Given the description of an element on the screen output the (x, y) to click on. 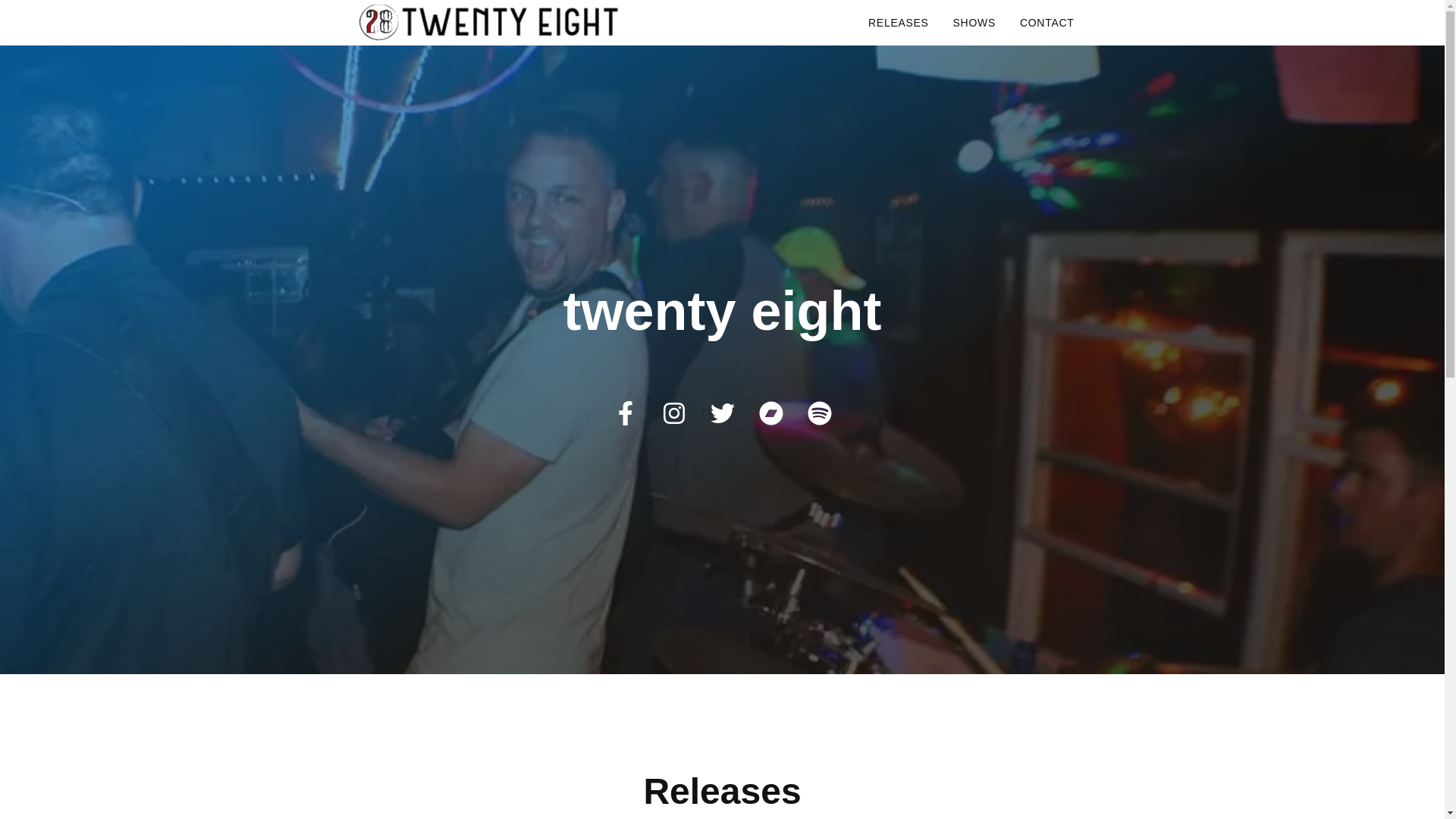
Facebook Element type: text (624, 410)
SHOWS Element type: text (974, 22)
Twitter Element type: text (721, 410)
Spotify Element type: text (818, 410)
RELEASES Element type: text (898, 22)
CONTACT Element type: text (1046, 22)
Instagram Element type: text (673, 410)
Bandcamp Element type: text (770, 410)
